Given the description of an element on the screen output the (x, y) to click on. 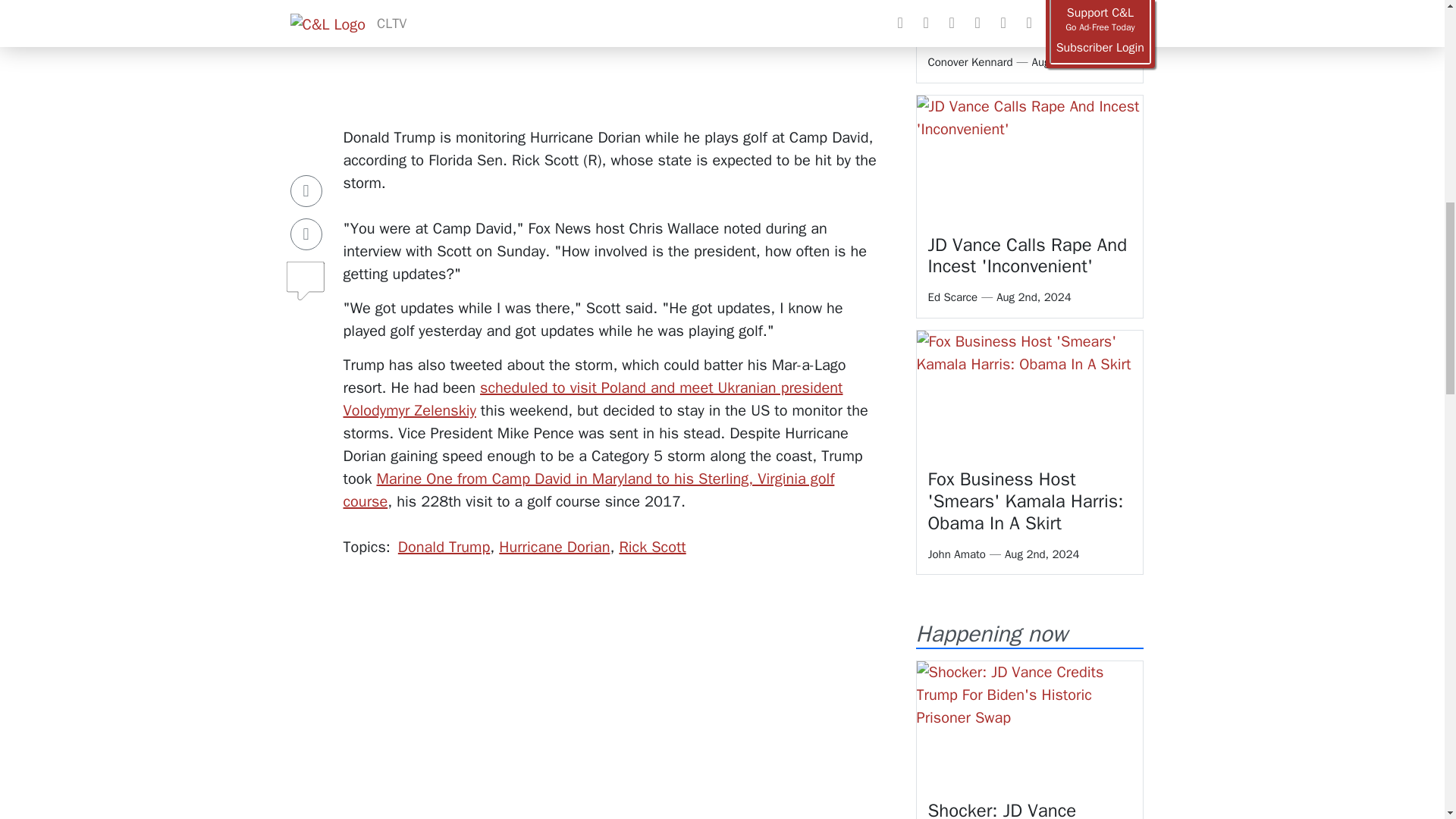
Hurricane Dorian (554, 546)
Donald Trump (443, 546)
Rick Scott (651, 546)
